Given the description of an element on the screen output the (x, y) to click on. 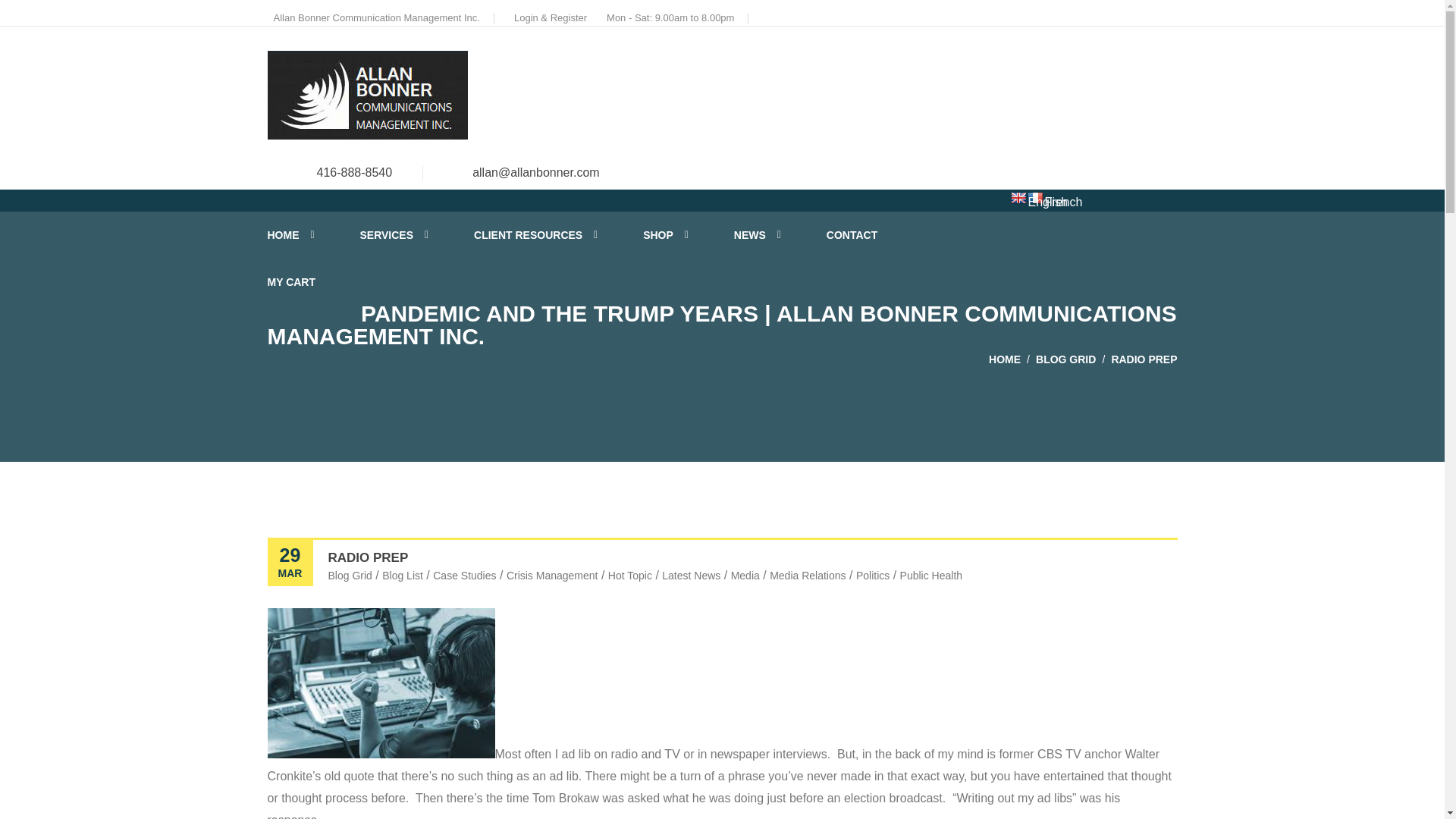
SHOP (665, 234)
HOME (290, 234)
MY CART (290, 281)
CLIENT RESOURCES (535, 234)
NEWS (756, 234)
Shop (665, 234)
CONTACT (852, 234)
Services (393, 234)
Home (290, 234)
Client Resources (535, 234)
416-888-8540 (355, 172)
SERVICES (393, 234)
Belgrade (366, 94)
